Given the description of an element on the screen output the (x, y) to click on. 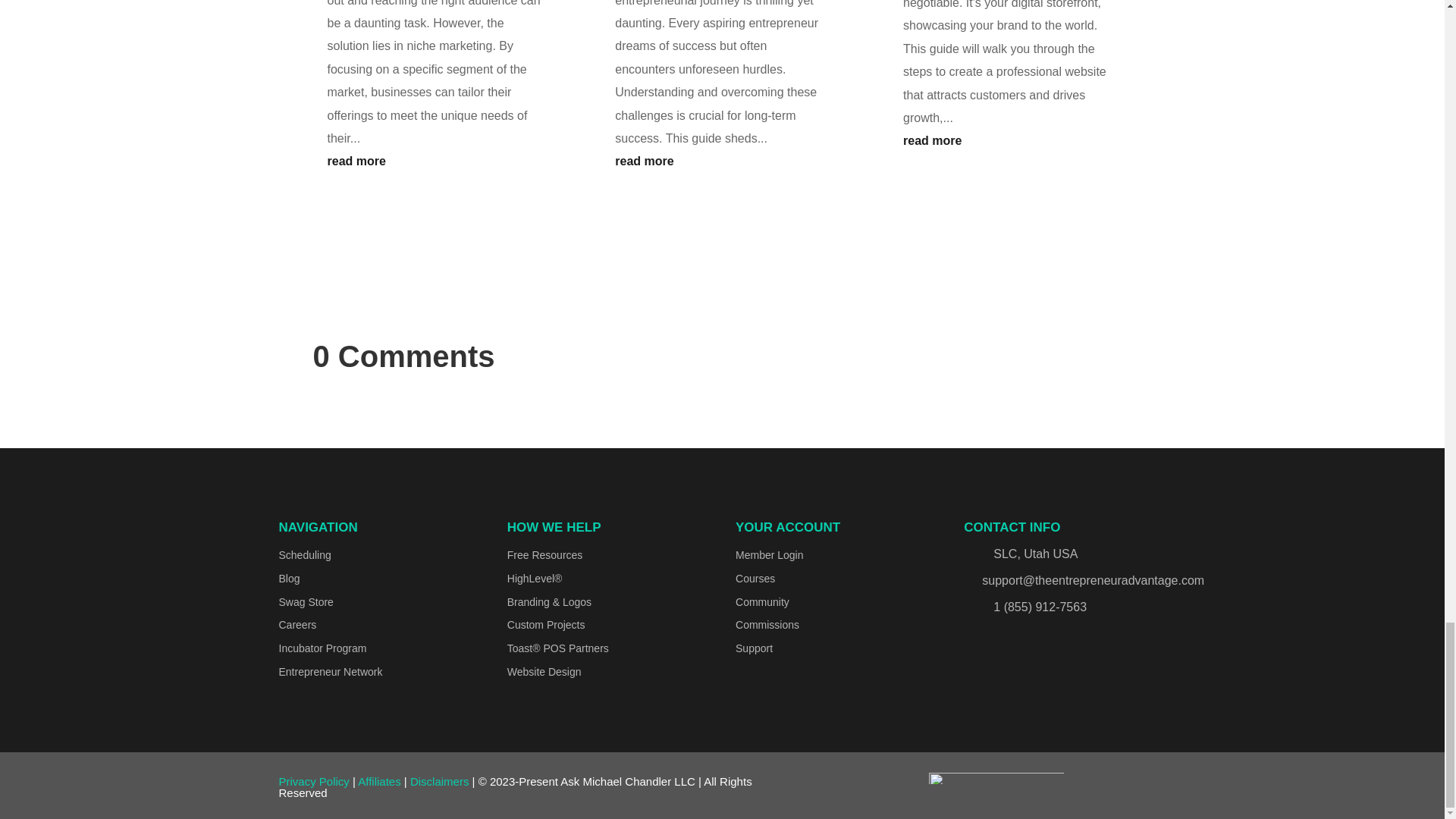
The Entrepreneur Advantage Career Opportunities (298, 624)
payments (996, 778)
